Given the description of an element on the screen output the (x, y) to click on. 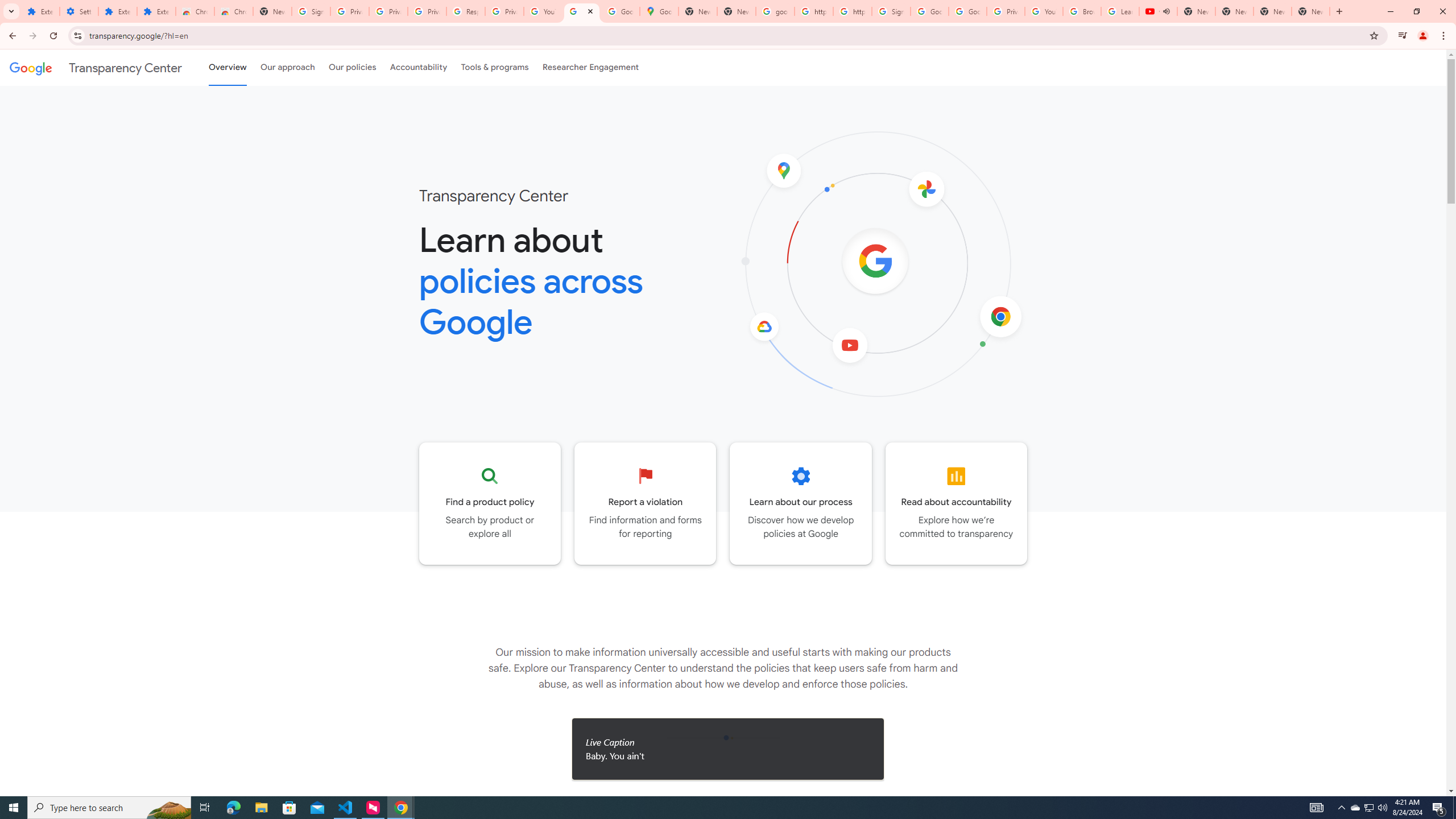
Accountability (418, 67)
Go to the Accountability page (956, 503)
Our policies (351, 67)
Go to the Product policy page (490, 503)
Our approach (287, 67)
New Tab (272, 11)
Extensions (117, 11)
Extensions (156, 11)
